Given the description of an element on the screen output the (x, y) to click on. 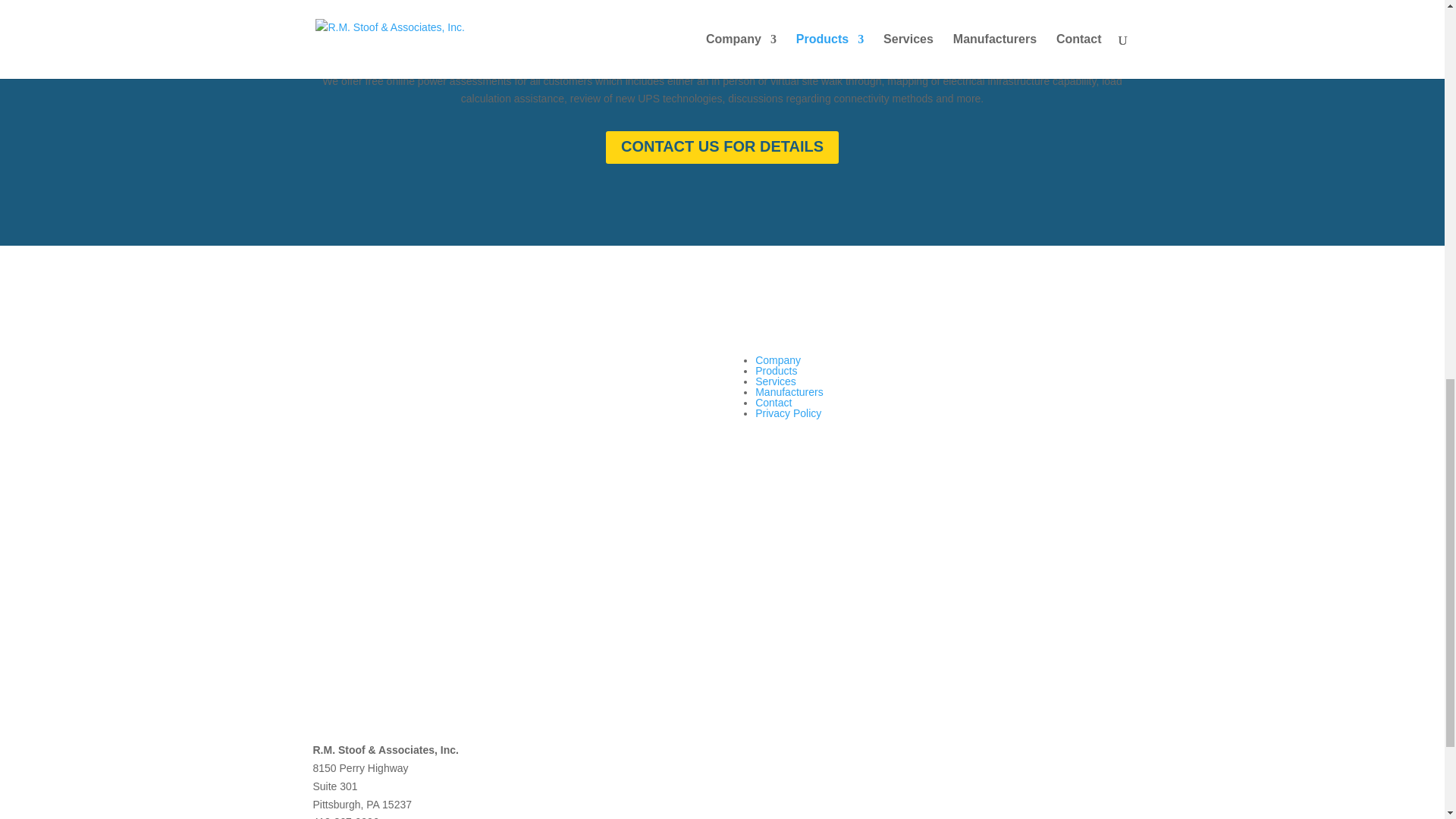
Privacy Policy (788, 413)
CONTACT US FOR DETAILS (721, 147)
Products (775, 370)
Contact (773, 402)
Services (775, 381)
Company (777, 359)
Manufacturers (788, 391)
